Given the description of an element on the screen output the (x, y) to click on. 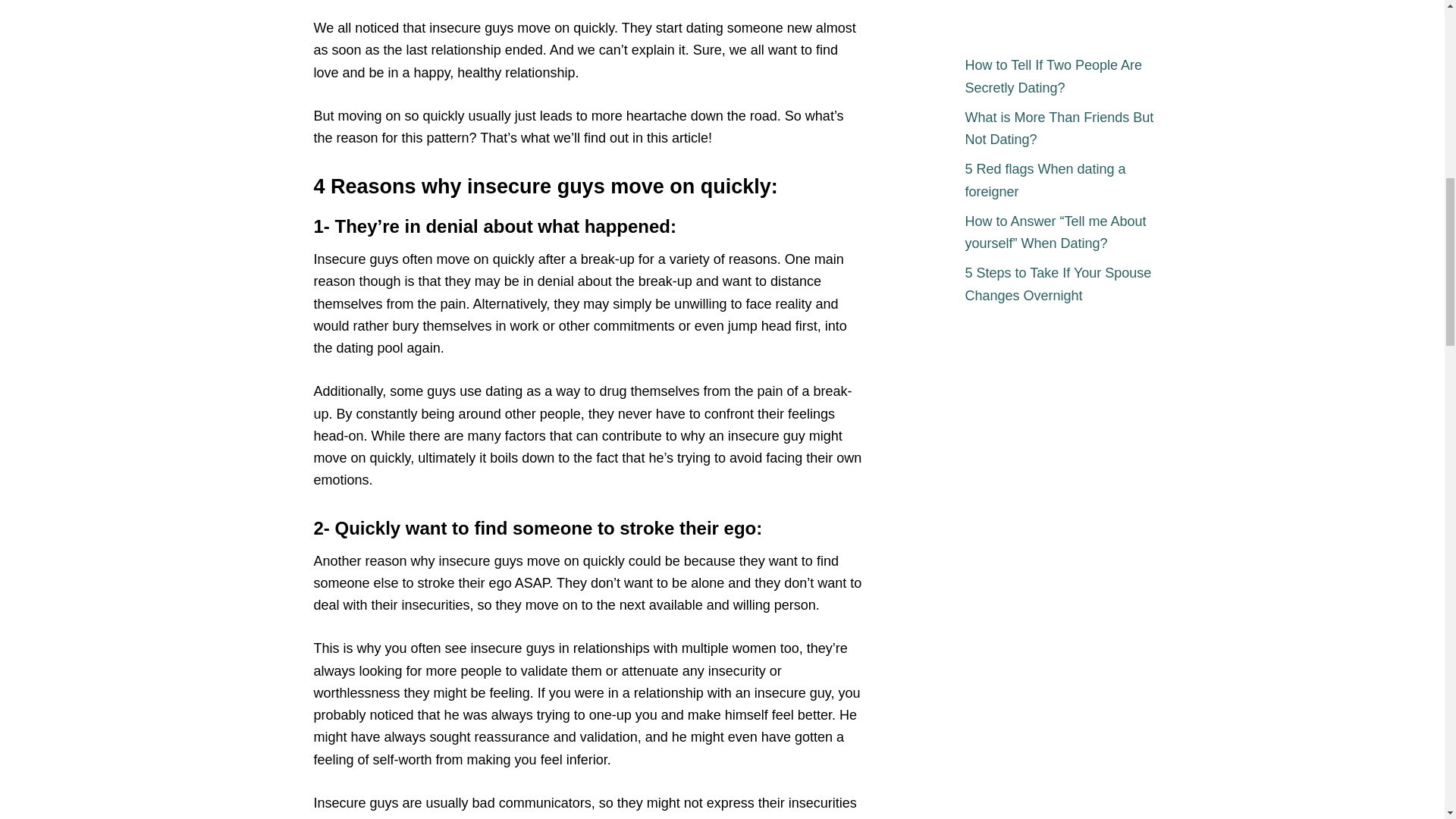
5 Red flags When dating a foreigner (1062, 180)
What is More Than Friends But Not Dating? (1062, 129)
How to Tell If Two People Are Secretly Dating? (1062, 76)
5 Steps to Take If Your Spouse Changes Overnight (1062, 284)
